Given the description of an element on the screen output the (x, y) to click on. 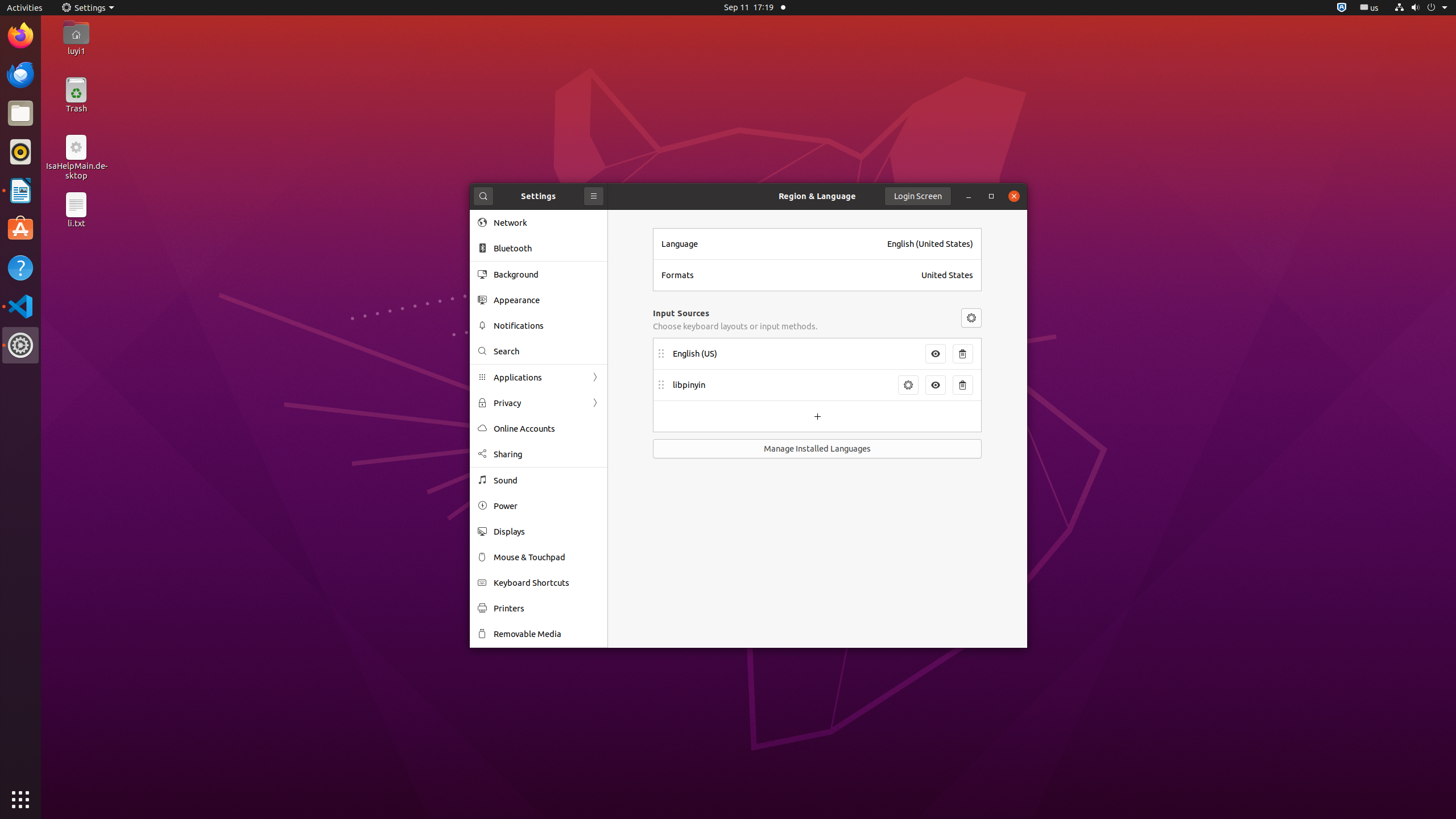
Forward Element type: icon (594, 402)
Keyboard Shortcuts Element type: label (546, 582)
Add Element type: icon (817, 416)
English (United States) Element type: label (930, 243)
luyi1 Element type: label (75, 50)
